Given the description of an element on the screen output the (x, y) to click on. 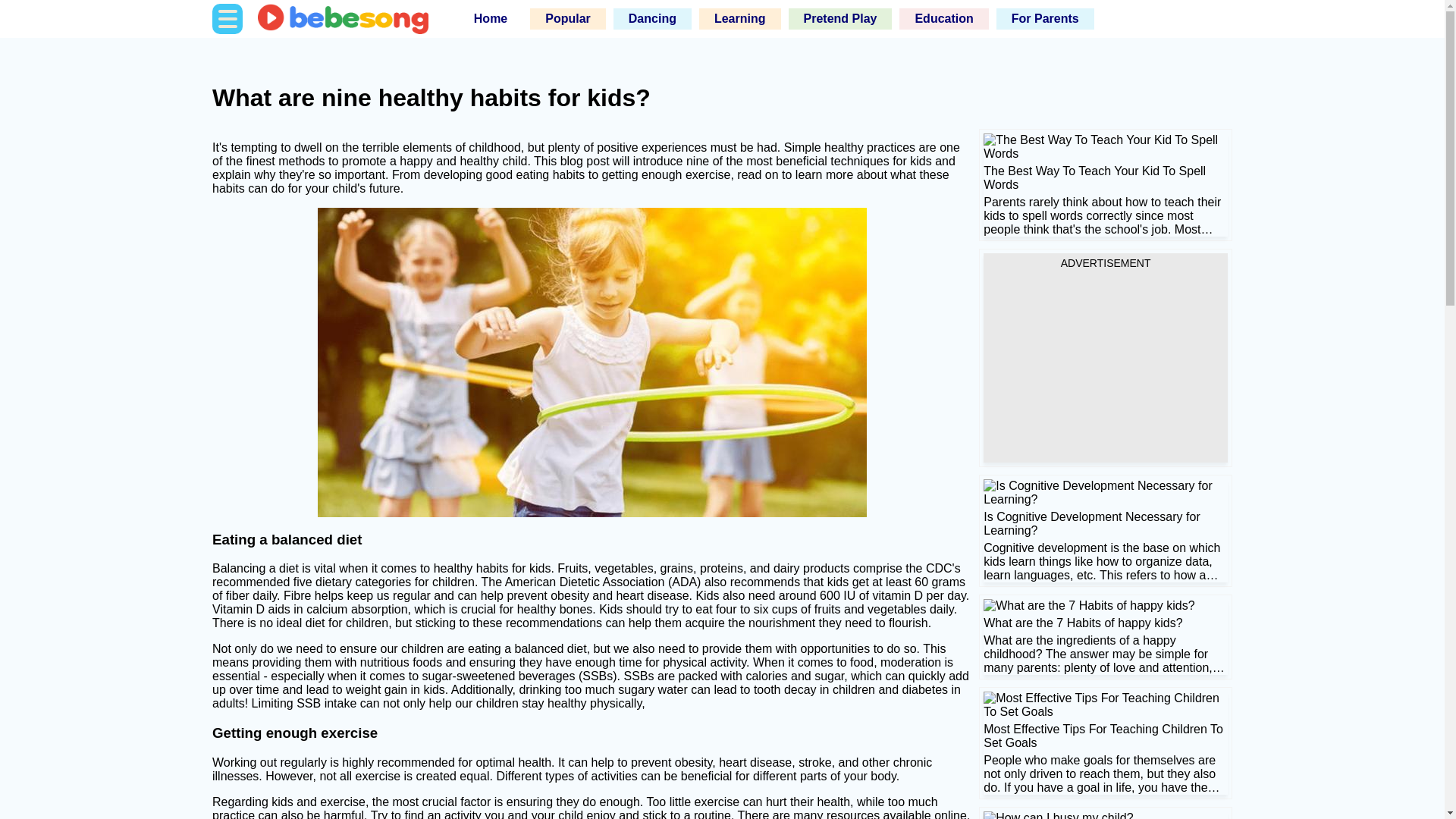
What are the 7 Habits of happy kids? (1105, 636)
How can I busy my child? (1105, 815)
Is Cognitive Development Necessary for Learning? (1105, 530)
Home (490, 18)
For Parents (1044, 18)
Learning (739, 18)
How can I busy my child? (1058, 815)
Most Effective Tips For Teaching Children To Set Goals (1105, 742)
What are the 7 Habits of happy kids? (1088, 605)
Pretend Play (840, 18)
Popular (567, 18)
The Best Way To Teach Your Kid To Spell Words (1105, 146)
Dancing (652, 18)
Is Cognitive Development Necessary for Learning? (1105, 492)
